Given the description of an element on the screen output the (x, y) to click on. 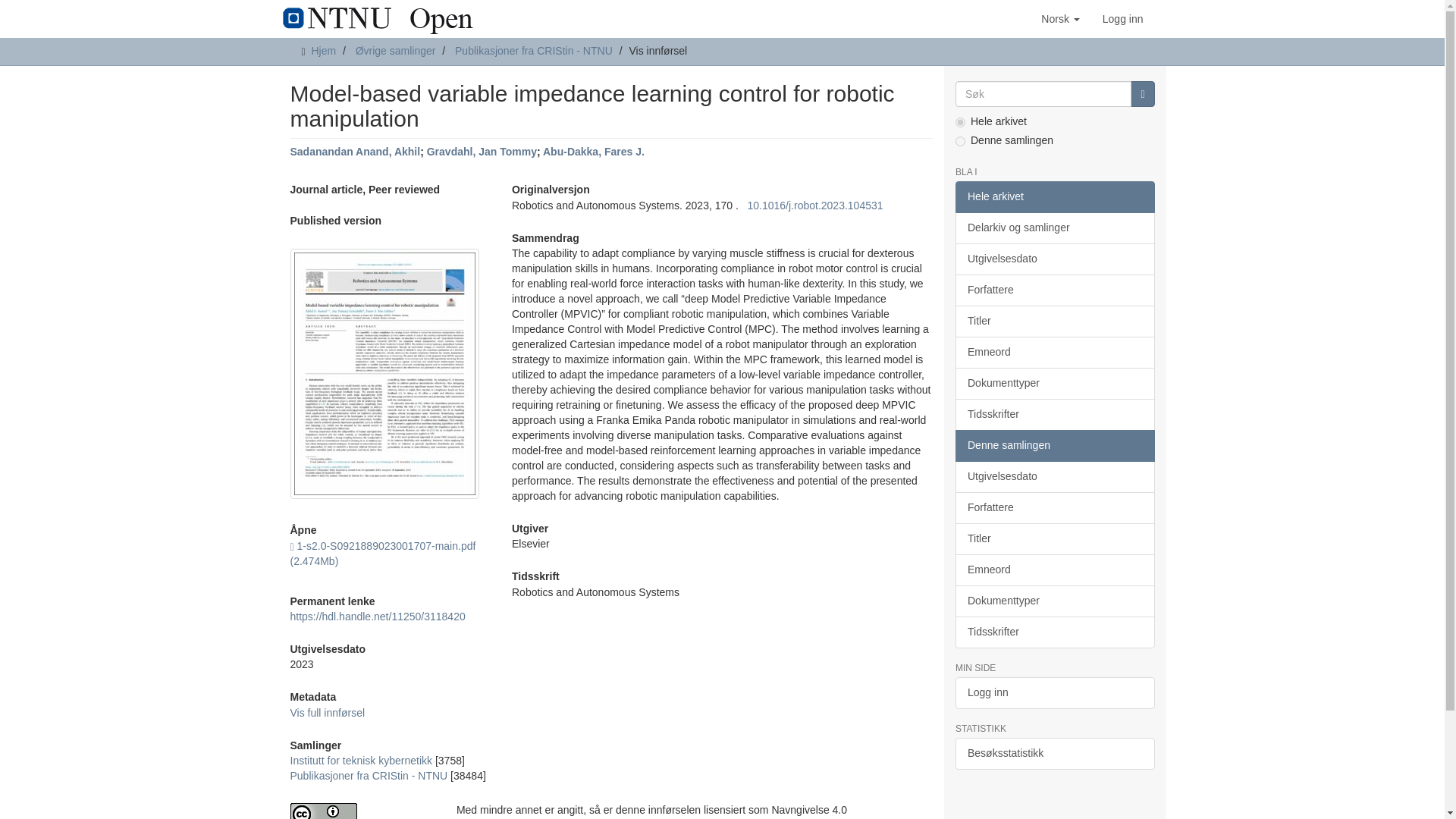
Hele arkivet (1054, 196)
Delarkiv og samlinger (1054, 228)
Publikasjoner fra CRIStin - NTNU (533, 50)
Institutt for teknisk kybernetikk (360, 760)
Gravdahl, Jan Tommy (481, 151)
Norsk  (1059, 18)
Utgivelsesdato (1054, 259)
Sadanandan Anand, Akhil (354, 151)
Navngivelse 4.0 Internasjonal (360, 811)
Hjem (323, 50)
